Given the description of an element on the screen output the (x, y) to click on. 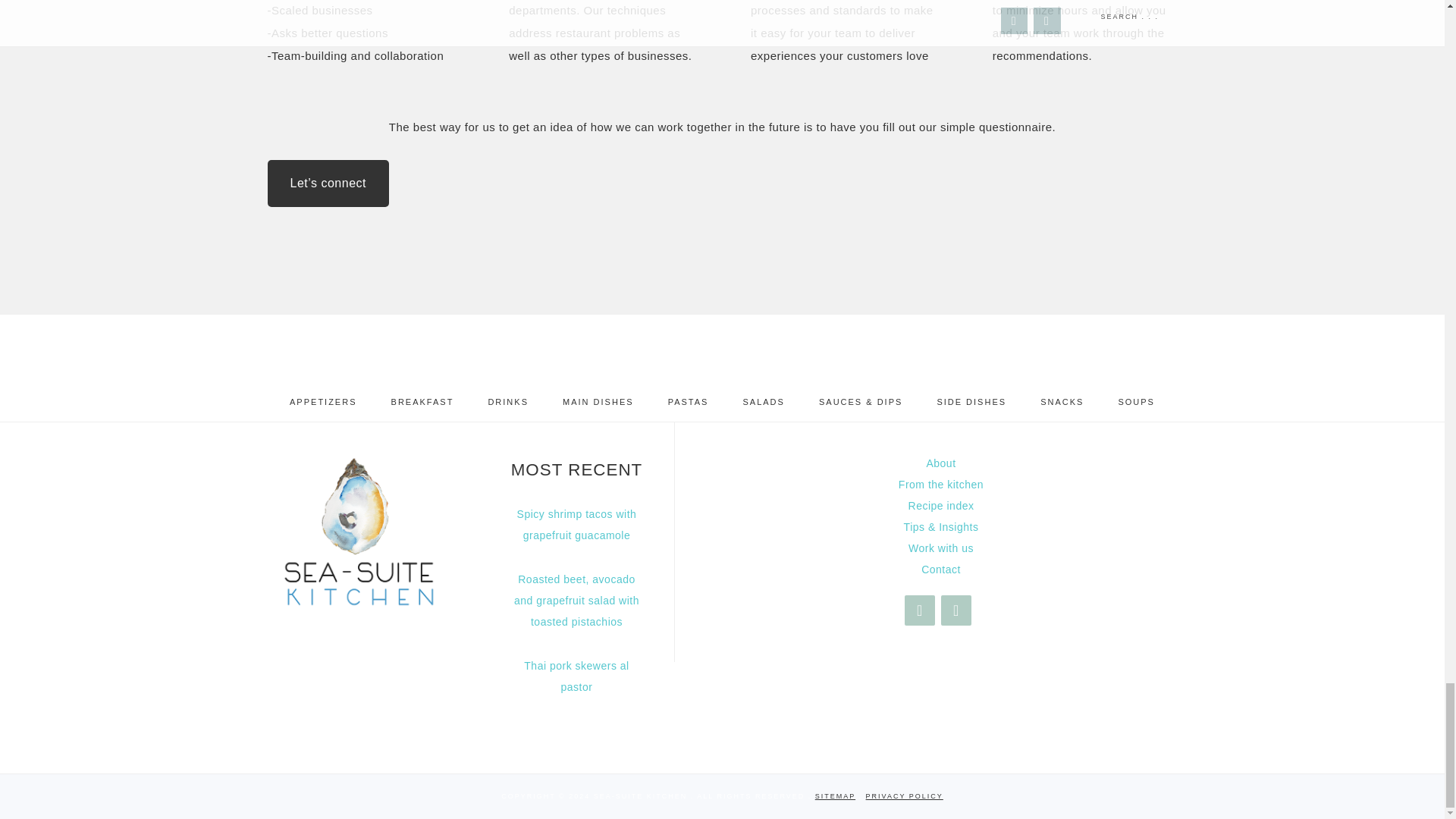
SNACKS (1062, 402)
Instagram (919, 610)
MAIN DISHES (598, 402)
PASTAS (687, 402)
SIDE DISHES (971, 402)
SALADS (762, 402)
DRINKS (507, 402)
YouTube (955, 610)
APPETIZERS (323, 402)
BREAKFAST (421, 402)
